Given the description of an element on the screen output the (x, y) to click on. 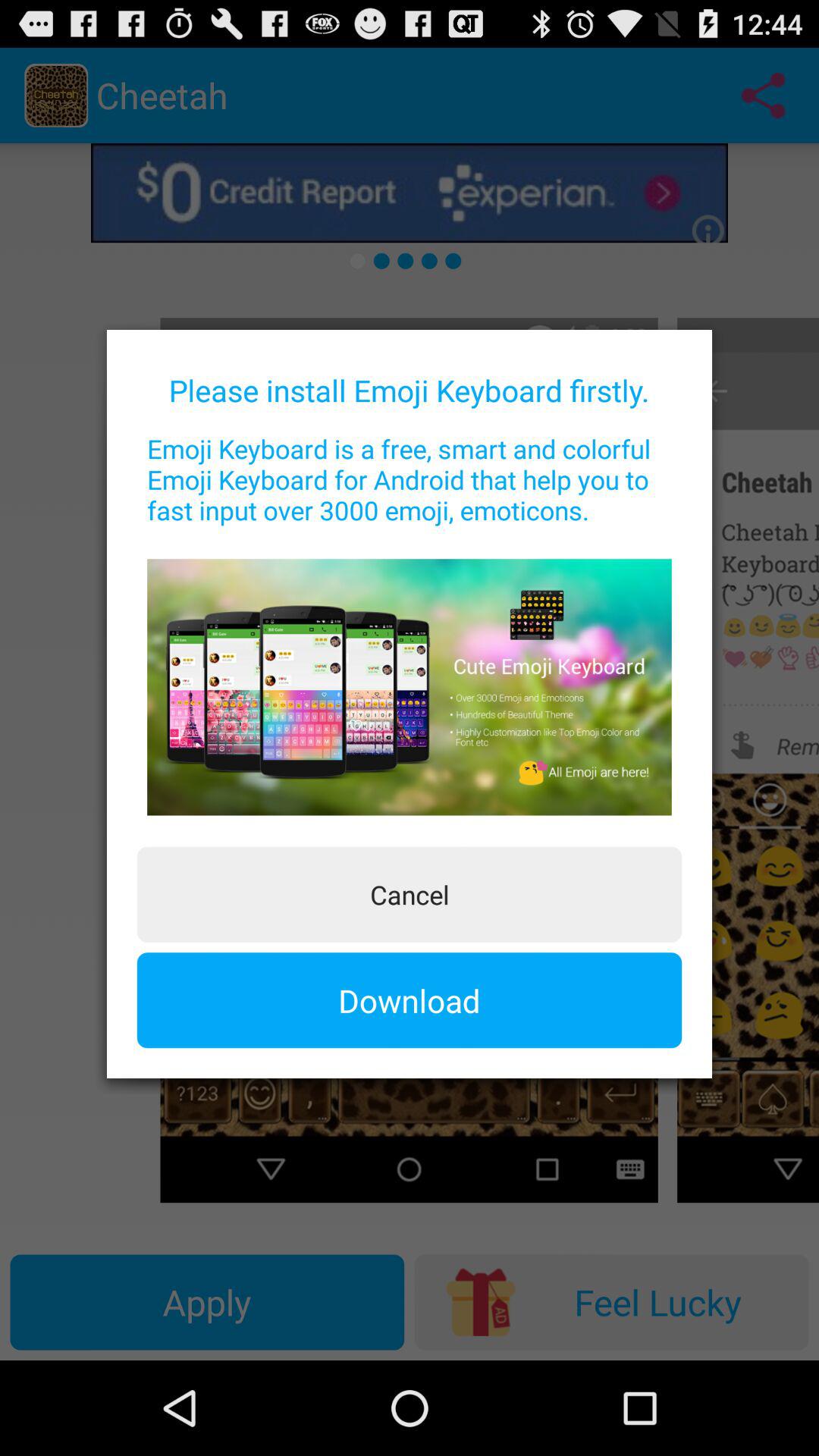
tap cancel (409, 894)
